Given the description of an element on the screen output the (x, y) to click on. 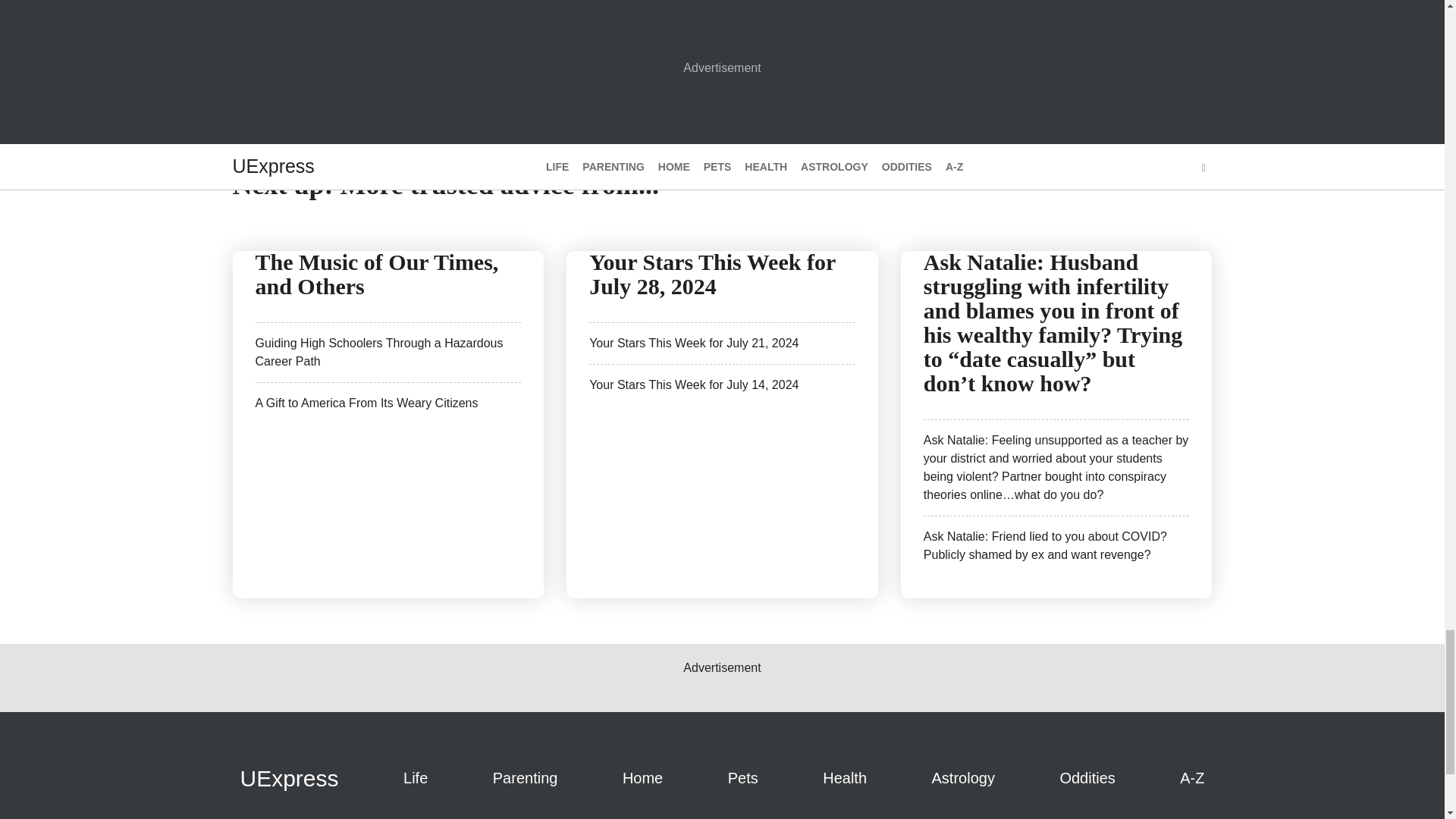
LOAD MORE ARTICLES (721, 122)
Guiding High Schoolers Through a Hazardous Career Path (378, 351)
The Music of Our Times, and Others (375, 273)
A Gift to America From Its Weary Citizens (365, 401)
READ MORE (597, 18)
